Given the description of an element on the screen output the (x, y) to click on. 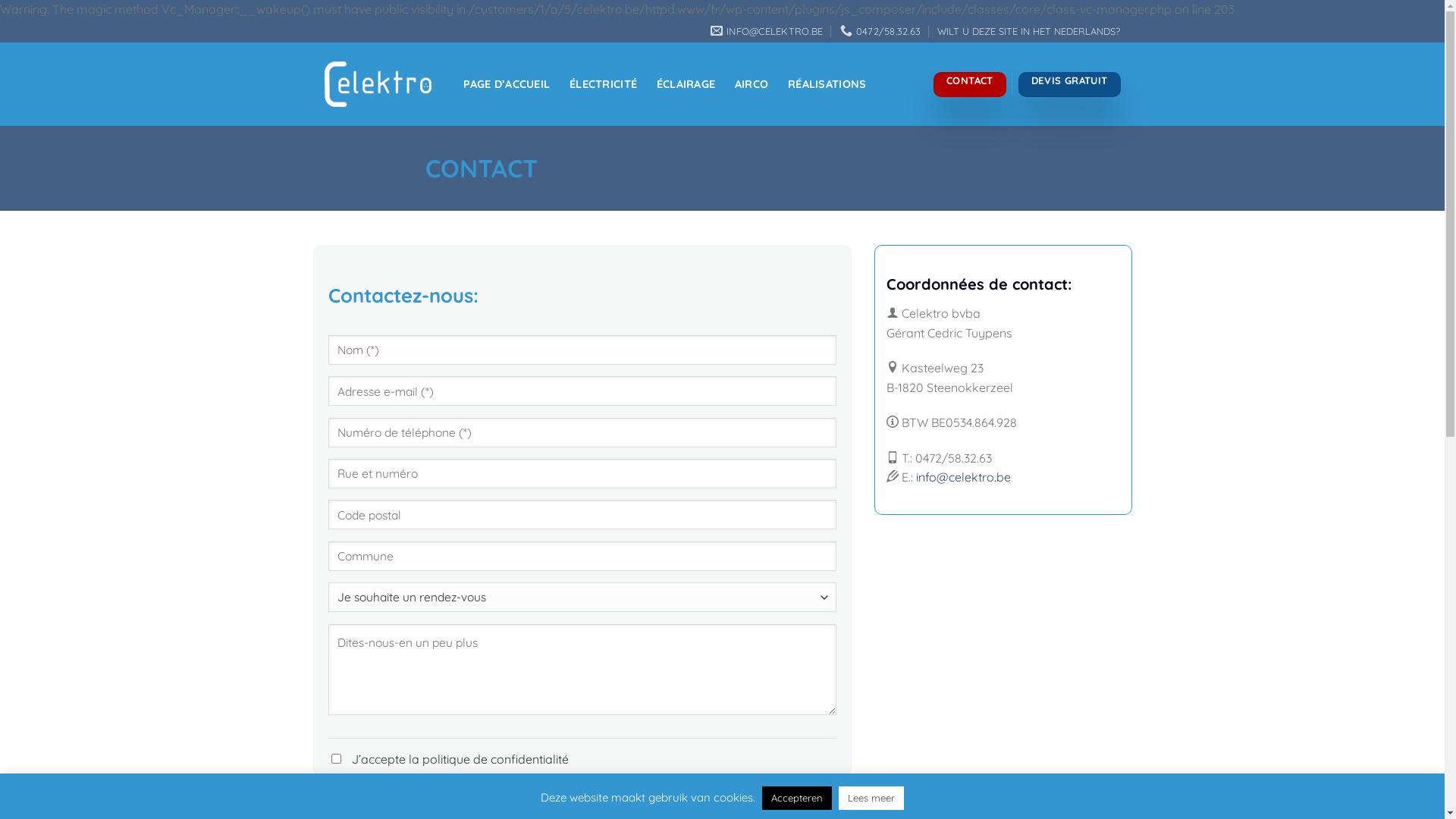
info@celektro.be Element type: text (963, 476)
INFO@CELEKTRO.BE Element type: text (766, 30)
DEVIS GRATUIT Element type: text (1069, 84)
AIRCO Element type: text (751, 83)
Accepteren Element type: text (796, 797)
Lees meer Element type: text (870, 797)
CONTACT Element type: text (969, 84)
0472/58.32.63 Element type: text (880, 30)
WILT U DEZE SITE IN HET NEDERLANDS? Element type: text (1028, 30)
